Given the description of an element on the screen output the (x, y) to click on. 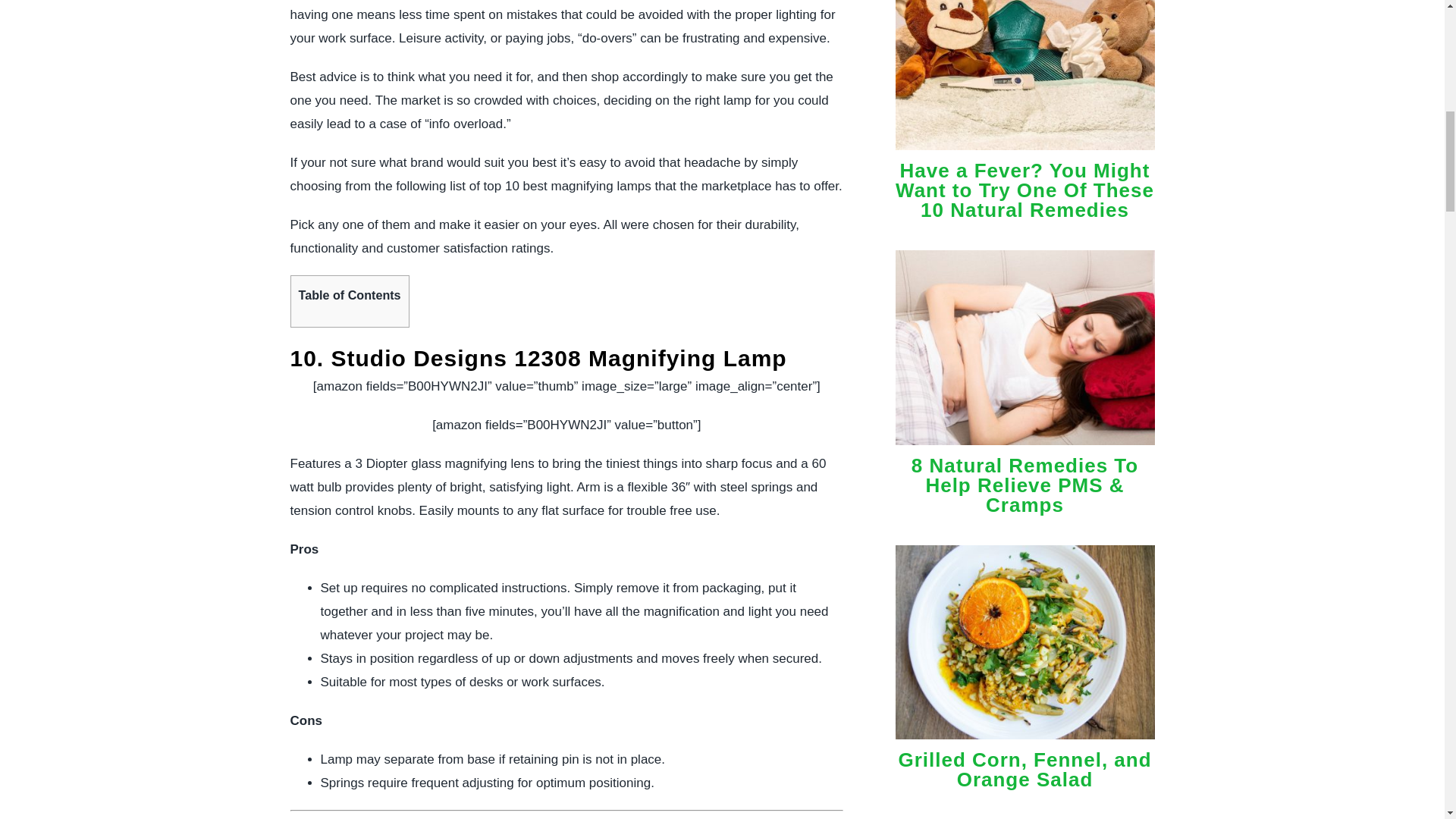
Grilled Corn, Fennel, and Orange Salad (1024, 742)
Grilled Corn, Fennel, and Orange Salad (1024, 769)
Grilled Corn, Fennel, and Orange Salad (1024, 769)
